Given the description of an element on the screen output the (x, y) to click on. 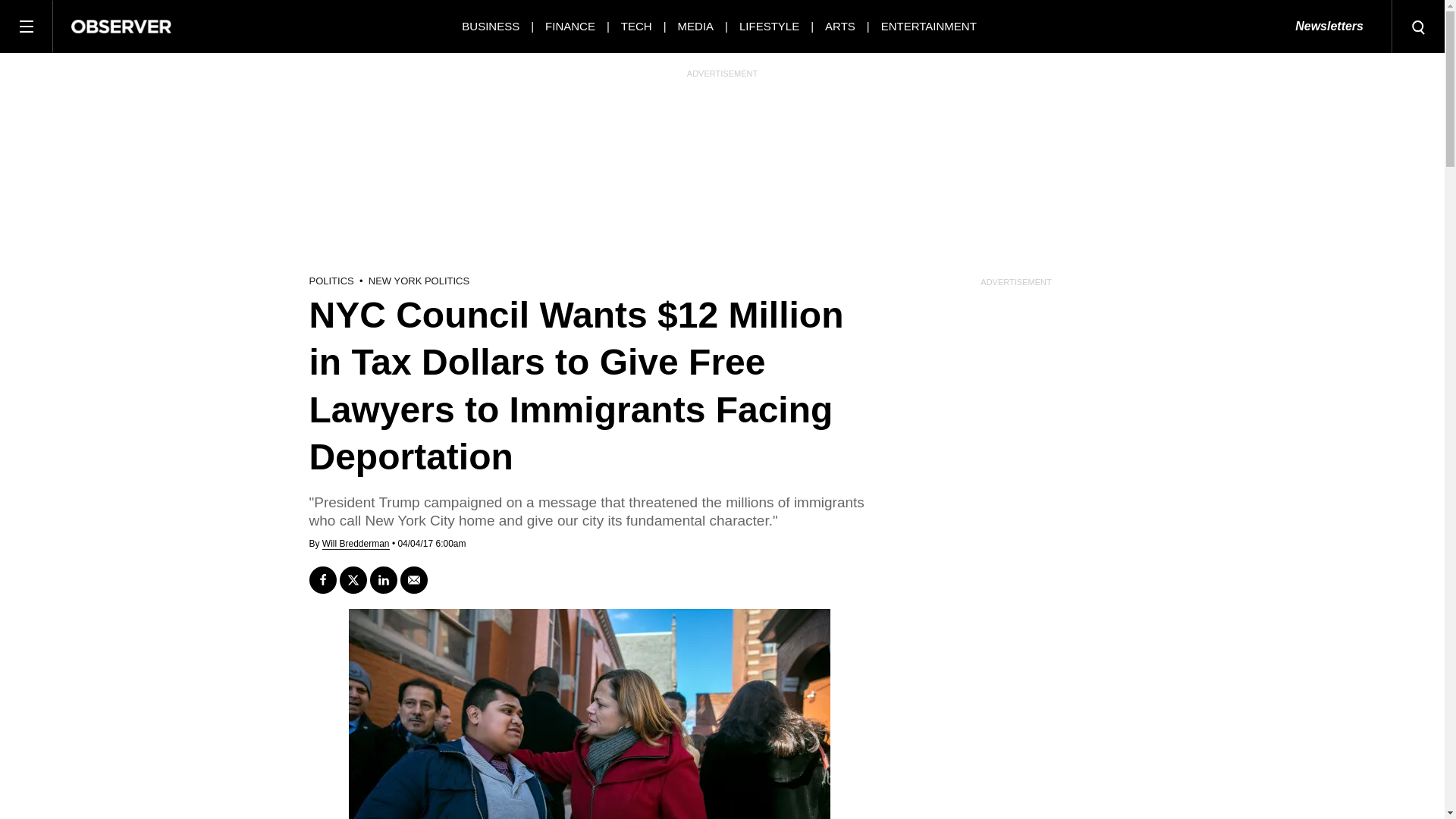
BUSINESS (490, 25)
Tweet (352, 579)
Share on Facebook (322, 579)
LIFESTYLE (769, 25)
MEDIA (696, 25)
ENTERTAINMENT (928, 25)
ARTS (840, 25)
Share on LinkedIn (383, 579)
Observer (121, 26)
View All Posts by Will Bredderman (355, 543)
TECH (636, 25)
Newsletters (1329, 26)
FINANCE (569, 25)
Send email (414, 579)
